Given the description of an element on the screen output the (x, y) to click on. 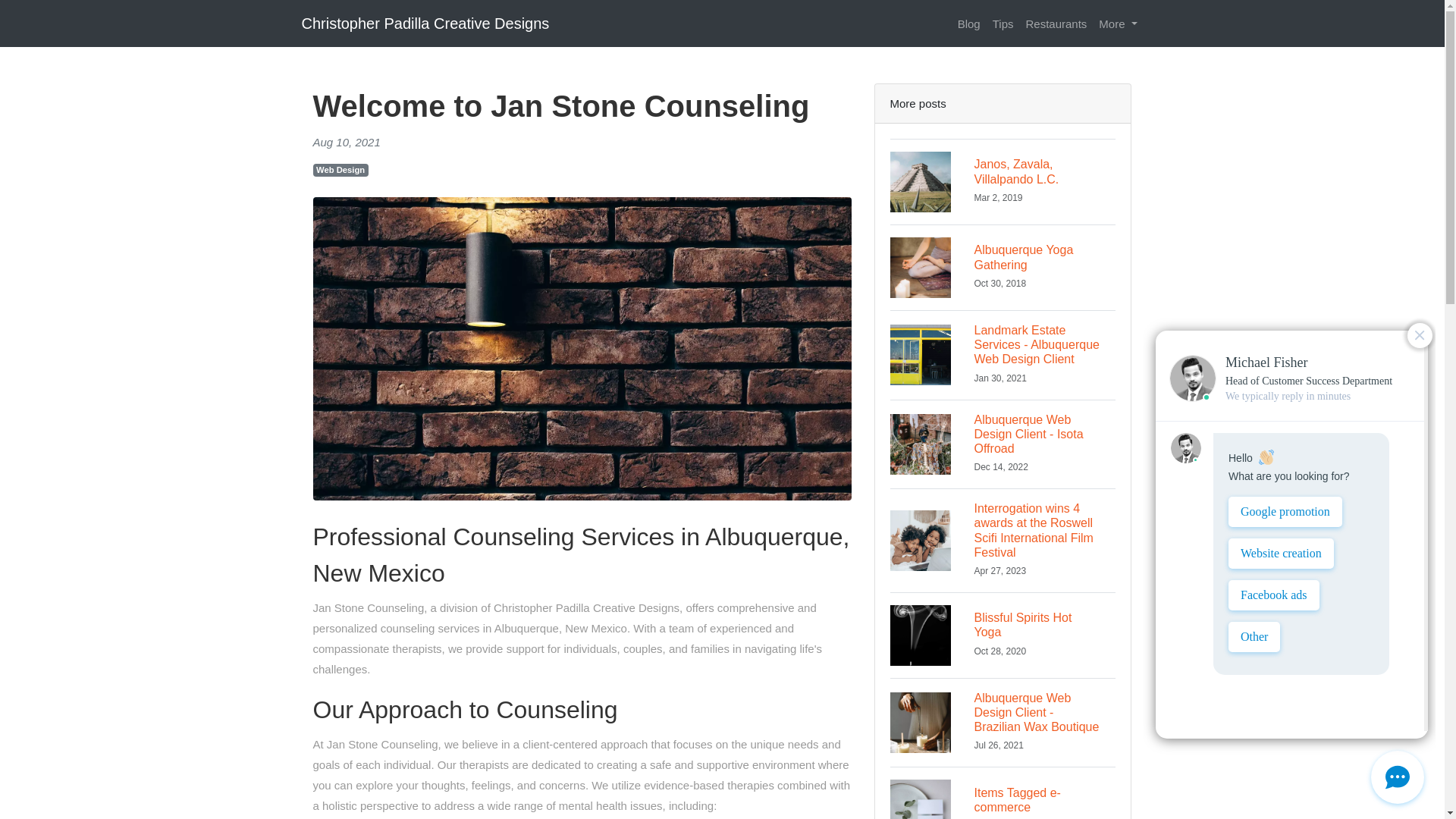
Tips (1003, 23)
Christopher Padilla Creative Designs (425, 22)
Blog (969, 23)
Restaurants (1056, 23)
More (1002, 792)
Web Design (1002, 635)
